Given the description of an element on the screen output the (x, y) to click on. 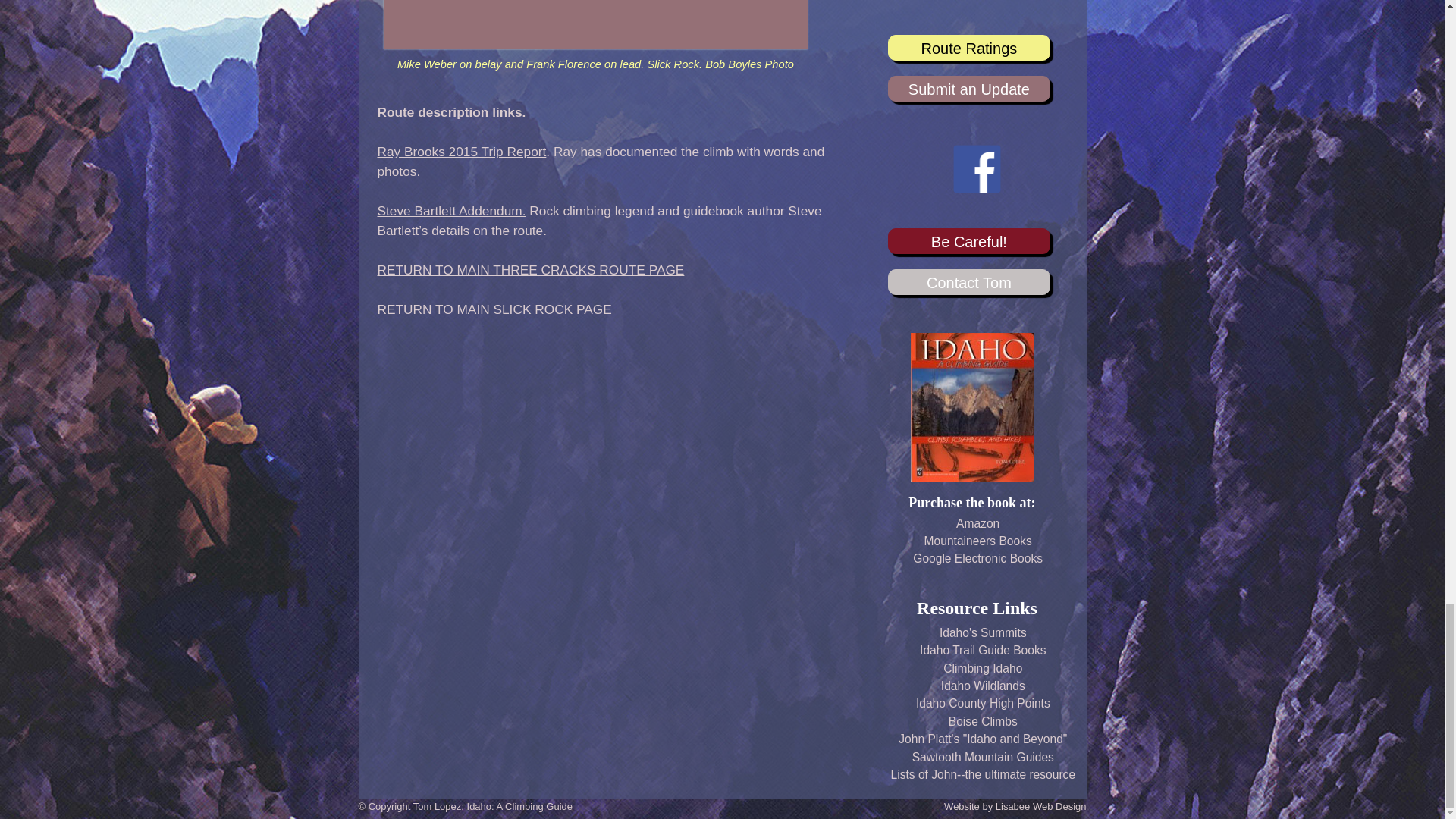
RETURN TO MAIN THREE CRACKS ROUTE PAGE (530, 269)
Follow us ... (976, 188)
Steve Bartlett Addendum. (451, 210)
Follow us ... (976, 168)
Ray Brooks 2015 Trip Report (462, 151)
RETURN TO MAIN SLICK ROCK PAGE (494, 309)
